Given the description of an element on the screen output the (x, y) to click on. 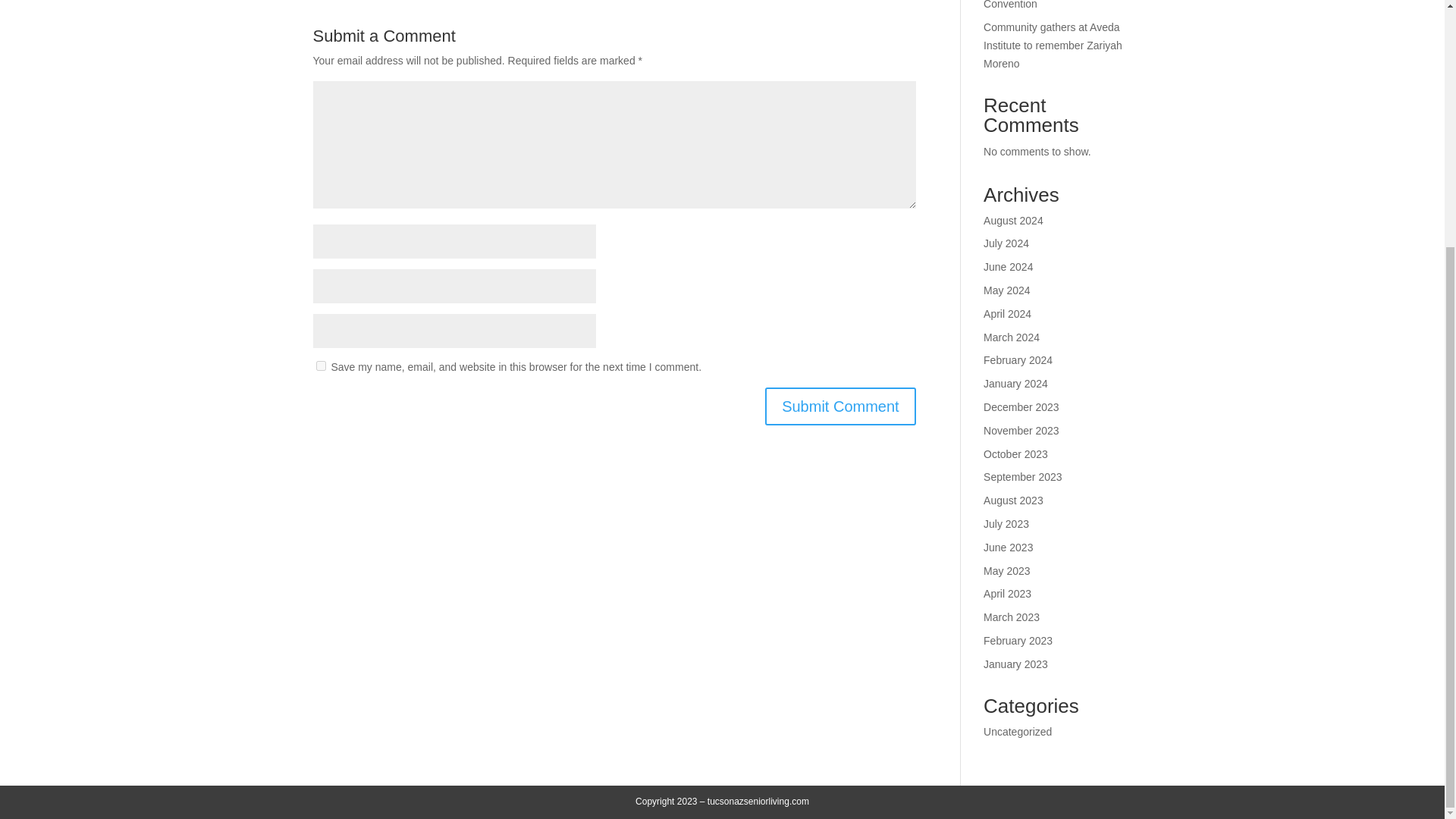
March 2023 (1011, 616)
January 2023 (1016, 664)
May 2024 (1006, 290)
August 2024 (1013, 220)
Submit Comment (840, 406)
June 2024 (1008, 266)
March 2024 (1011, 337)
Submit Comment (840, 406)
September 2023 (1023, 476)
